Given the description of an element on the screen output the (x, y) to click on. 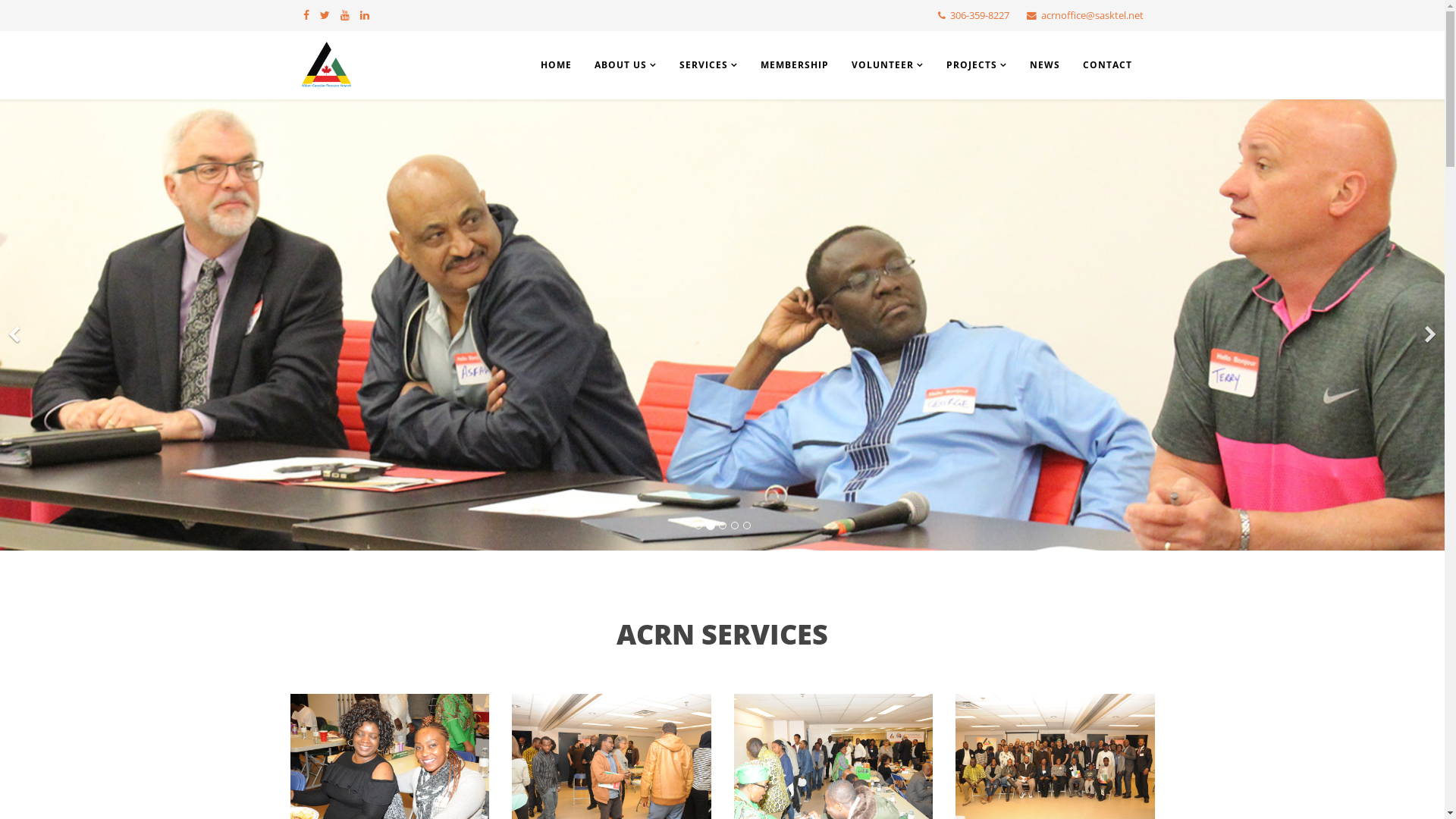
VOLUNTEER Element type: text (887, 65)
HOME Element type: text (556, 65)
CONTACT Element type: text (1106, 65)
NEWS Element type: text (1043, 65)
ABOUT US Element type: text (624, 65)
acrnoffice@sasktel.net Element type: text (1091, 15)
PROJECTS Element type: text (975, 65)
MEMBERSHIP Element type: text (794, 65)
306-359-8227 Element type: text (978, 15)
SERVICES Element type: text (707, 65)
